Given the description of an element on the screen output the (x, y) to click on. 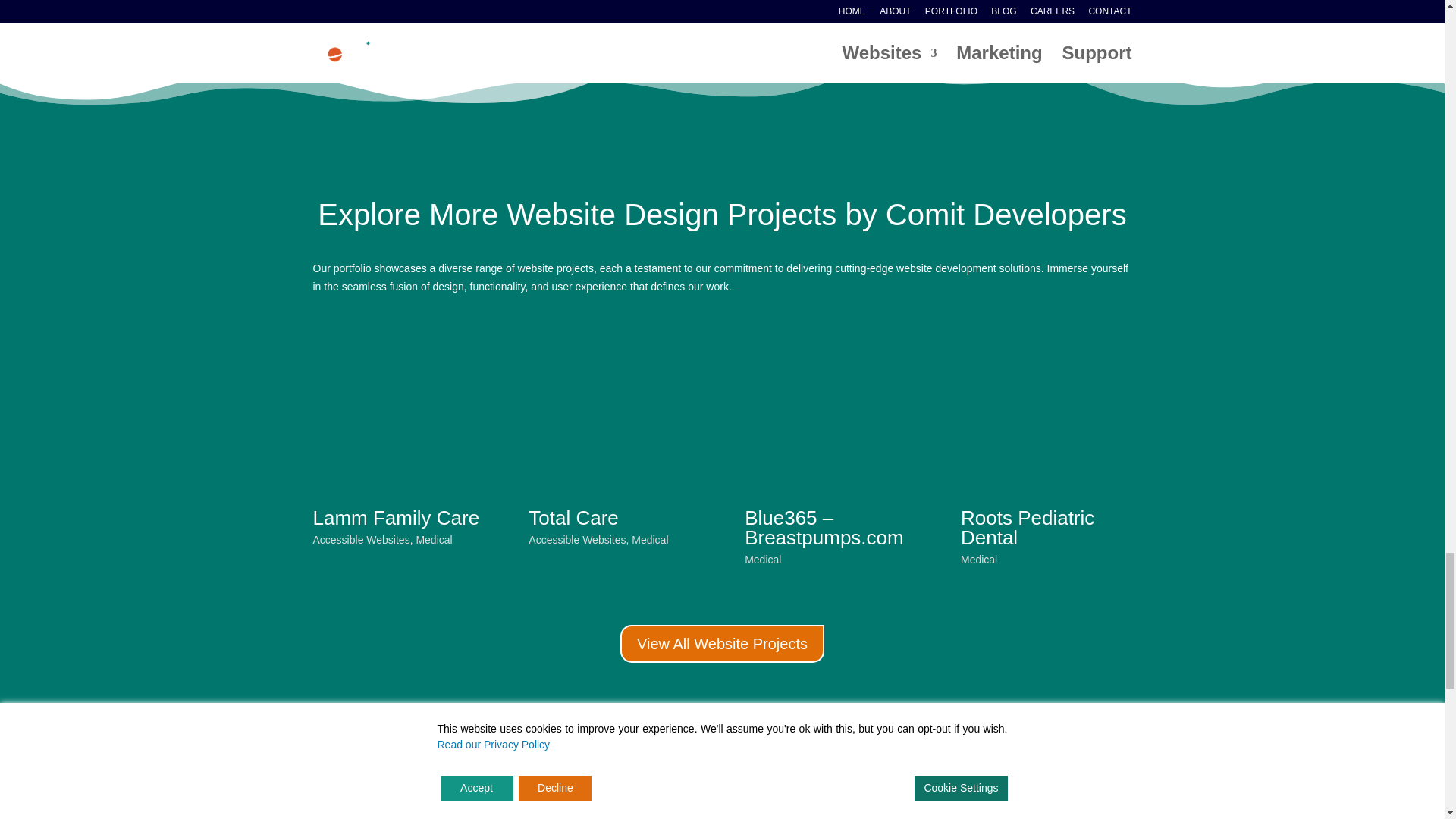
Roots Pediatric Dental (1027, 527)
Medical (762, 559)
Accessible Websites (361, 539)
Lamm Family Care (396, 517)
Accessible Websites (577, 539)
Medical (432, 539)
Medical (649, 539)
Medical (978, 559)
Total Care (613, 414)
Medical (649, 539)
Total Care (573, 517)
Lamm Family Care (396, 517)
Lamm Family Care (398, 414)
Medical (762, 559)
Total Care (573, 517)
